Given the description of an element on the screen output the (x, y) to click on. 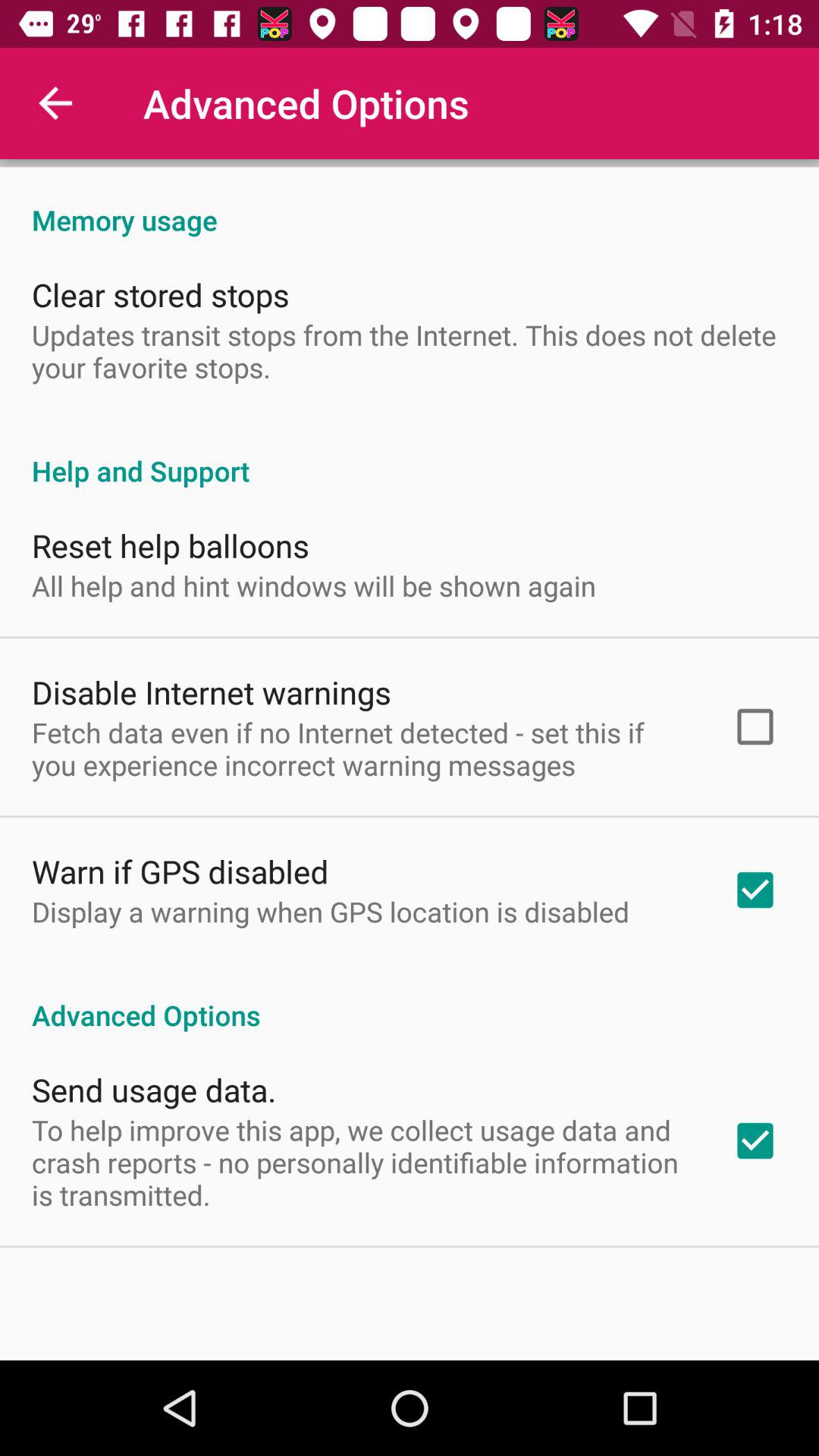
click the icon below the warn if gps item (330, 911)
